Given the description of an element on the screen output the (x, y) to click on. 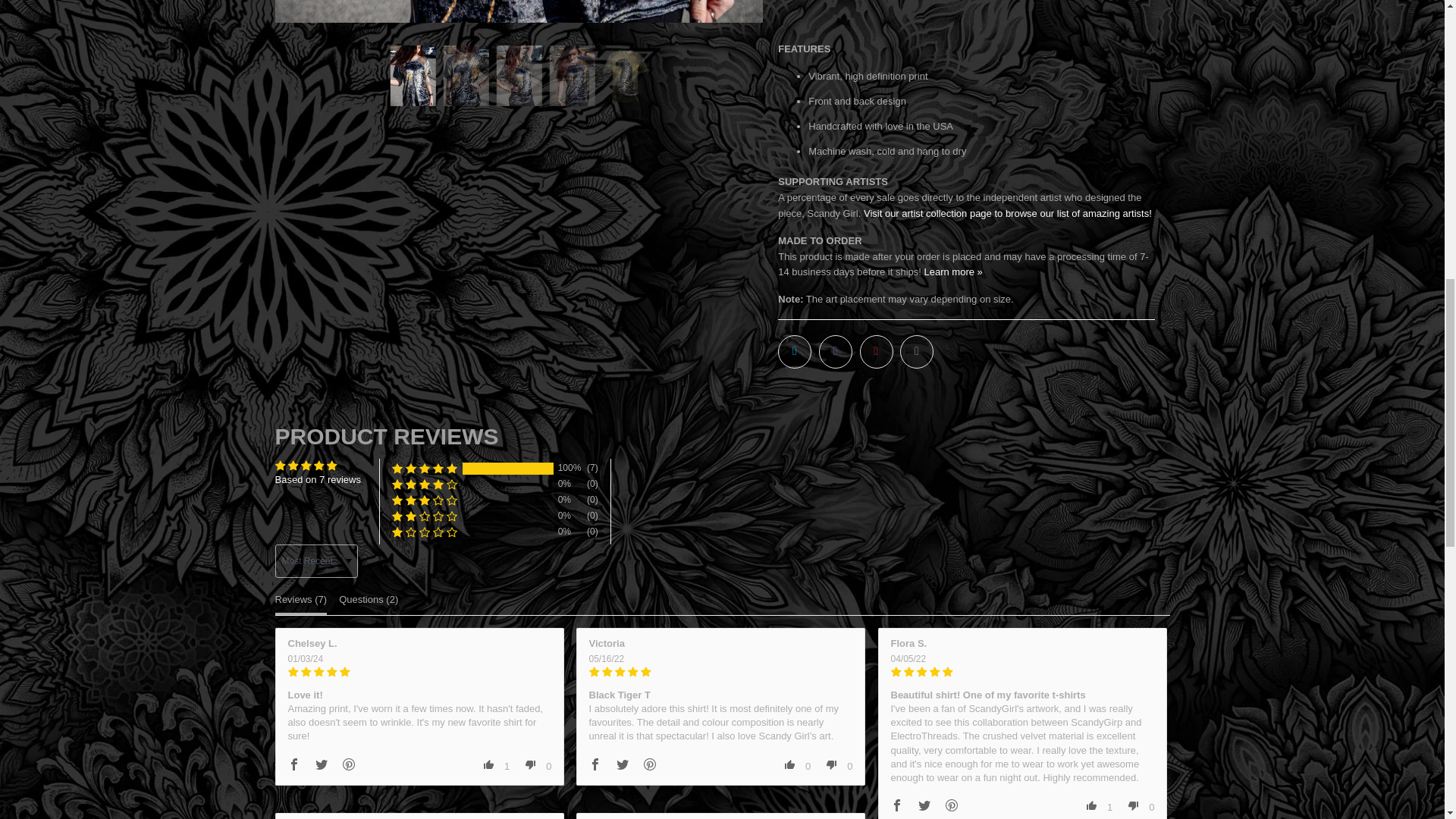
Share this on Twitter (793, 351)
Share this on Facebook (834, 351)
Artist-Collection-Electro-Threads (1007, 213)
